Given the description of an element on the screen output the (x, y) to click on. 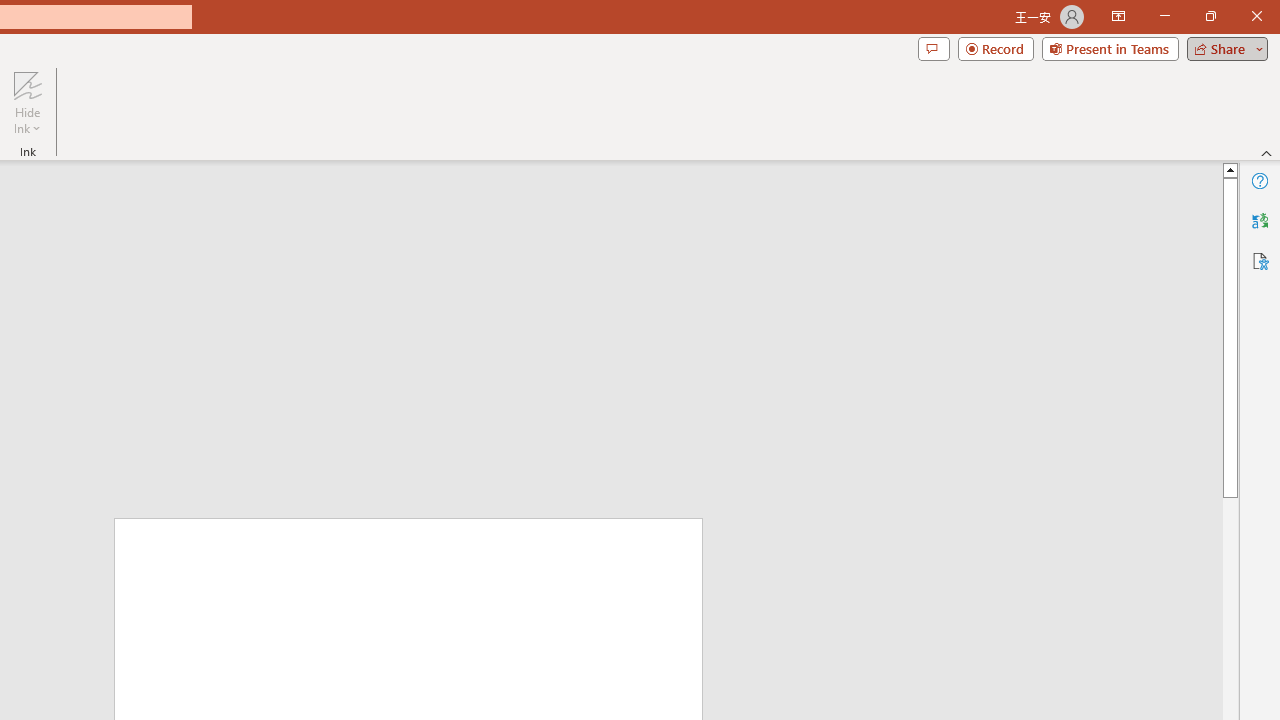
Hide Ink (27, 102)
